Given the description of an element on the screen output the (x, y) to click on. 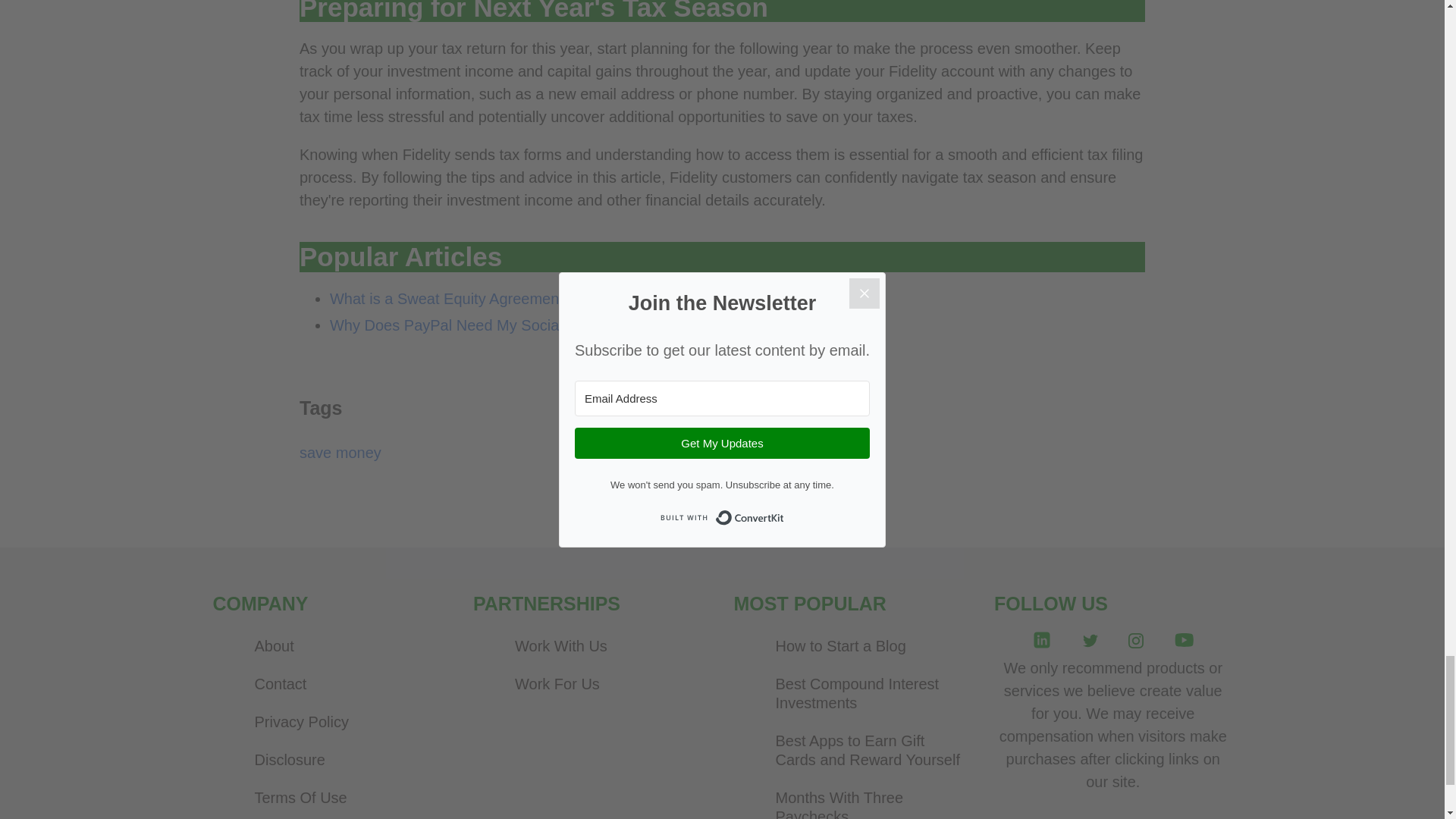
What is a Sweat Equity Agreement? (451, 298)
How to Start a Blog (868, 646)
Why Does PayPal Need My Social Security Number? (508, 324)
youtube (1184, 643)
Work With Us (607, 646)
Contact (346, 684)
linkedin (1041, 643)
twitter (1090, 641)
Best Compound Interest Investments (868, 693)
save money (340, 452)
About (346, 646)
Months With Three Paychecks (868, 800)
Terms Of Use (346, 797)
instagram (1136, 641)
Work For Us (607, 684)
